Given the description of an element on the screen output the (x, y) to click on. 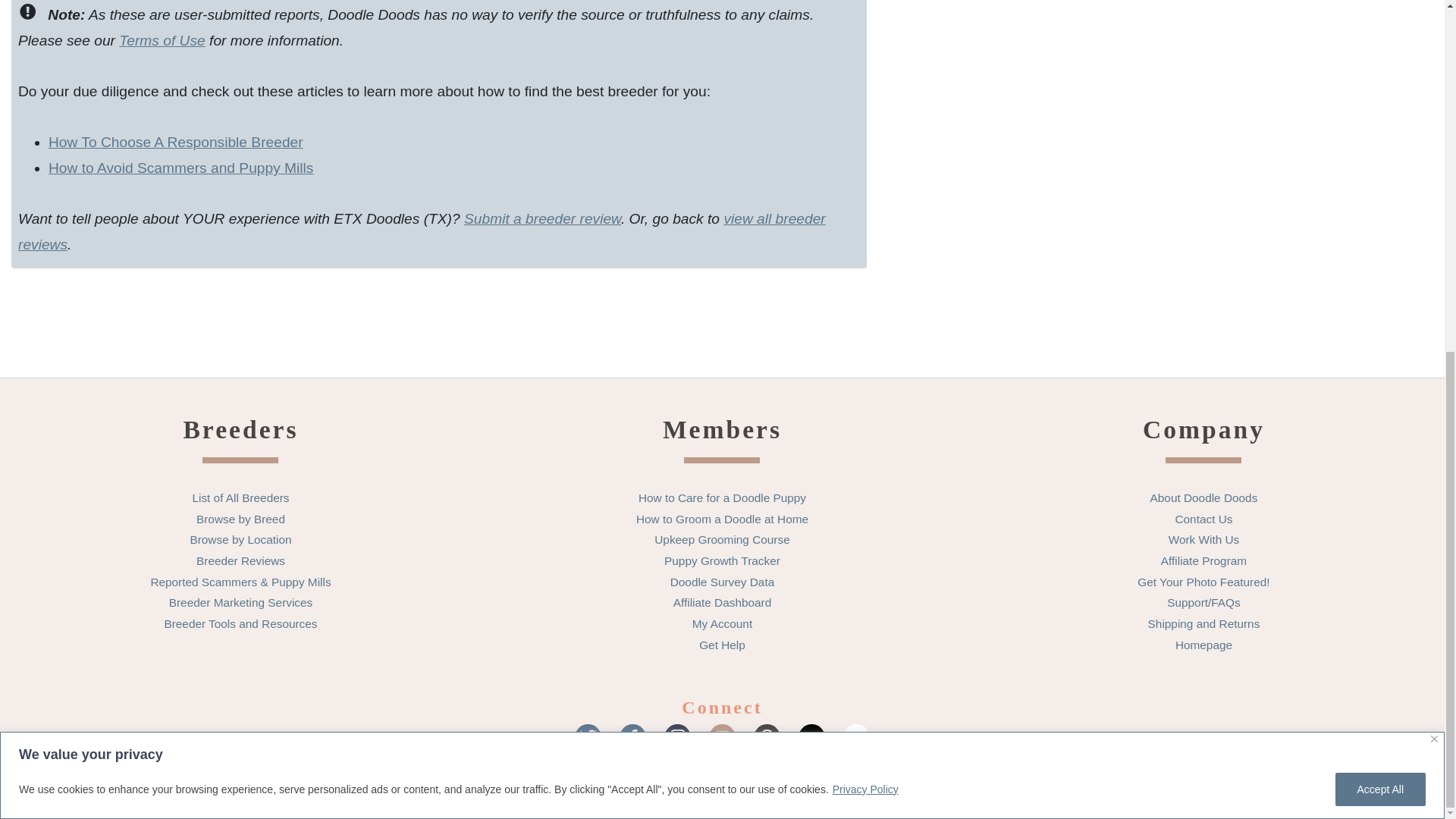
Accept All (1380, 175)
Privacy Policy (865, 176)
